Given the description of an element on the screen output the (x, y) to click on. 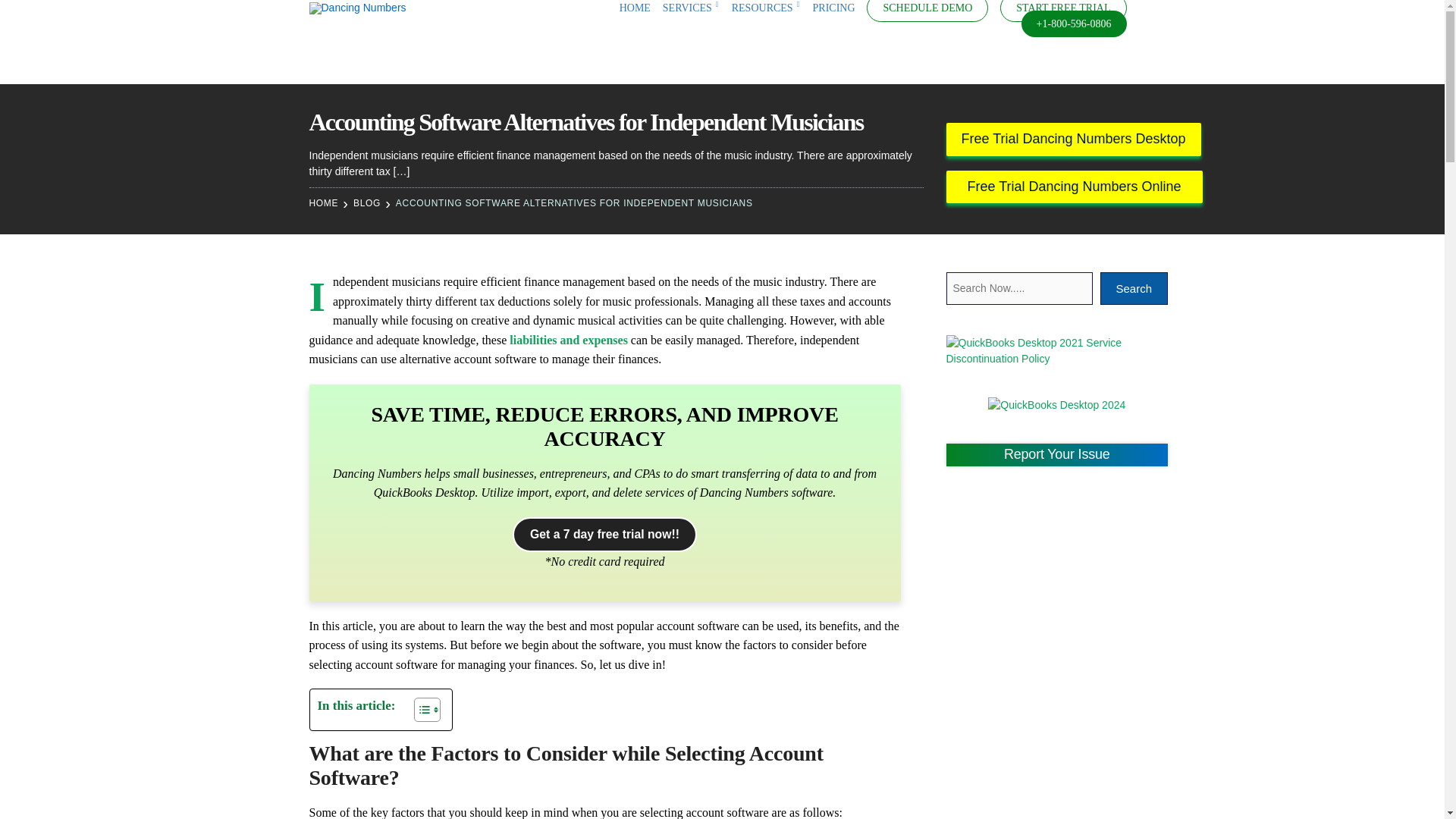
PRICING (834, 8)
SCHEDULE DEMO (927, 8)
SERVICES (690, 8)
START FREE TRIAL (1062, 8)
HOME (635, 8)
Search (18, 18)
RESOURCES (766, 8)
